Given the description of an element on the screen output the (x, y) to click on. 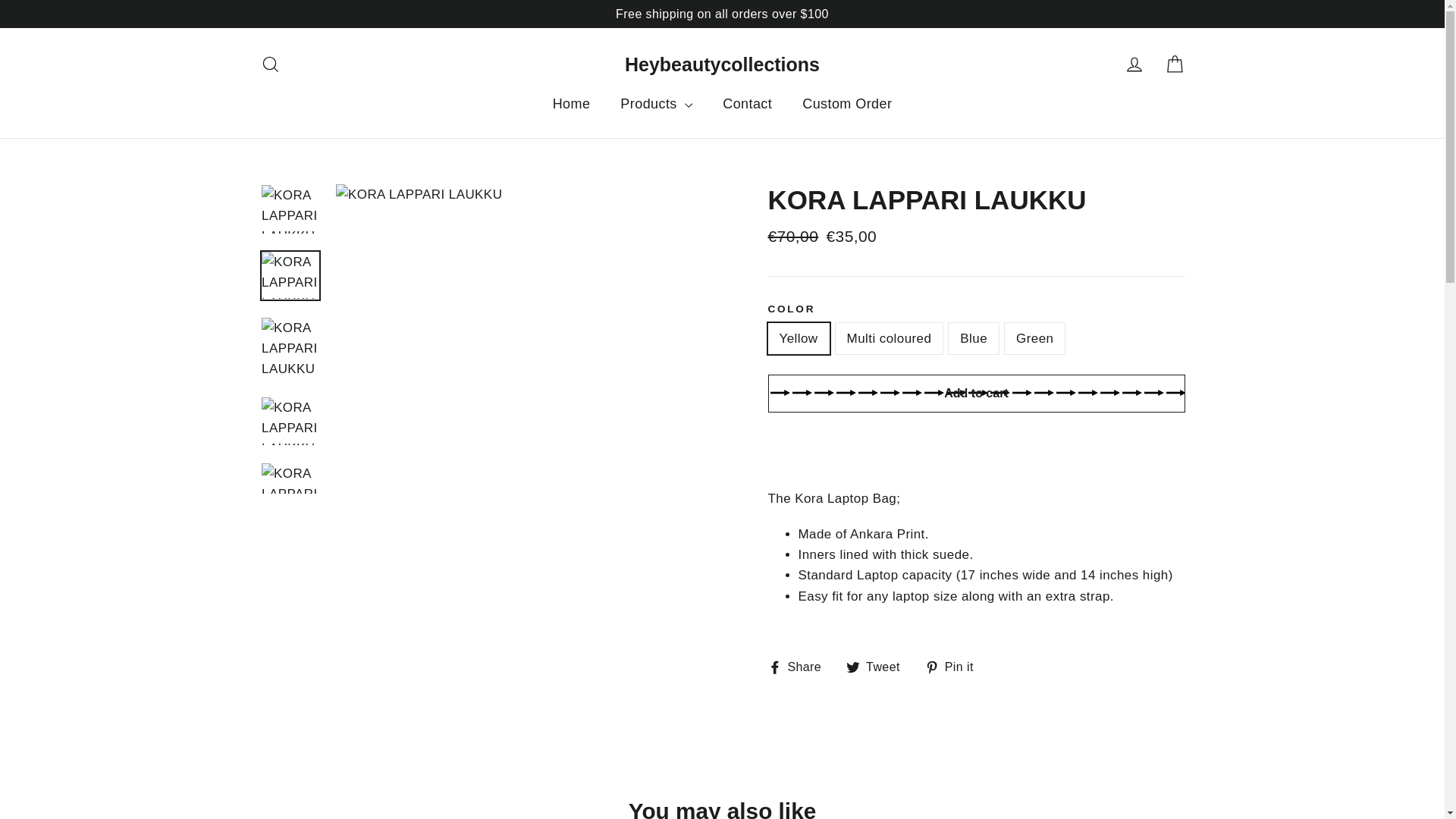
Contact (747, 103)
Log in (1134, 63)
Home (571, 103)
Share on Facebook (799, 666)
Pin on Pinterest (954, 666)
Cart (1173, 63)
Tweet on Twitter (878, 666)
Products (656, 103)
